Given the description of an element on the screen output the (x, y) to click on. 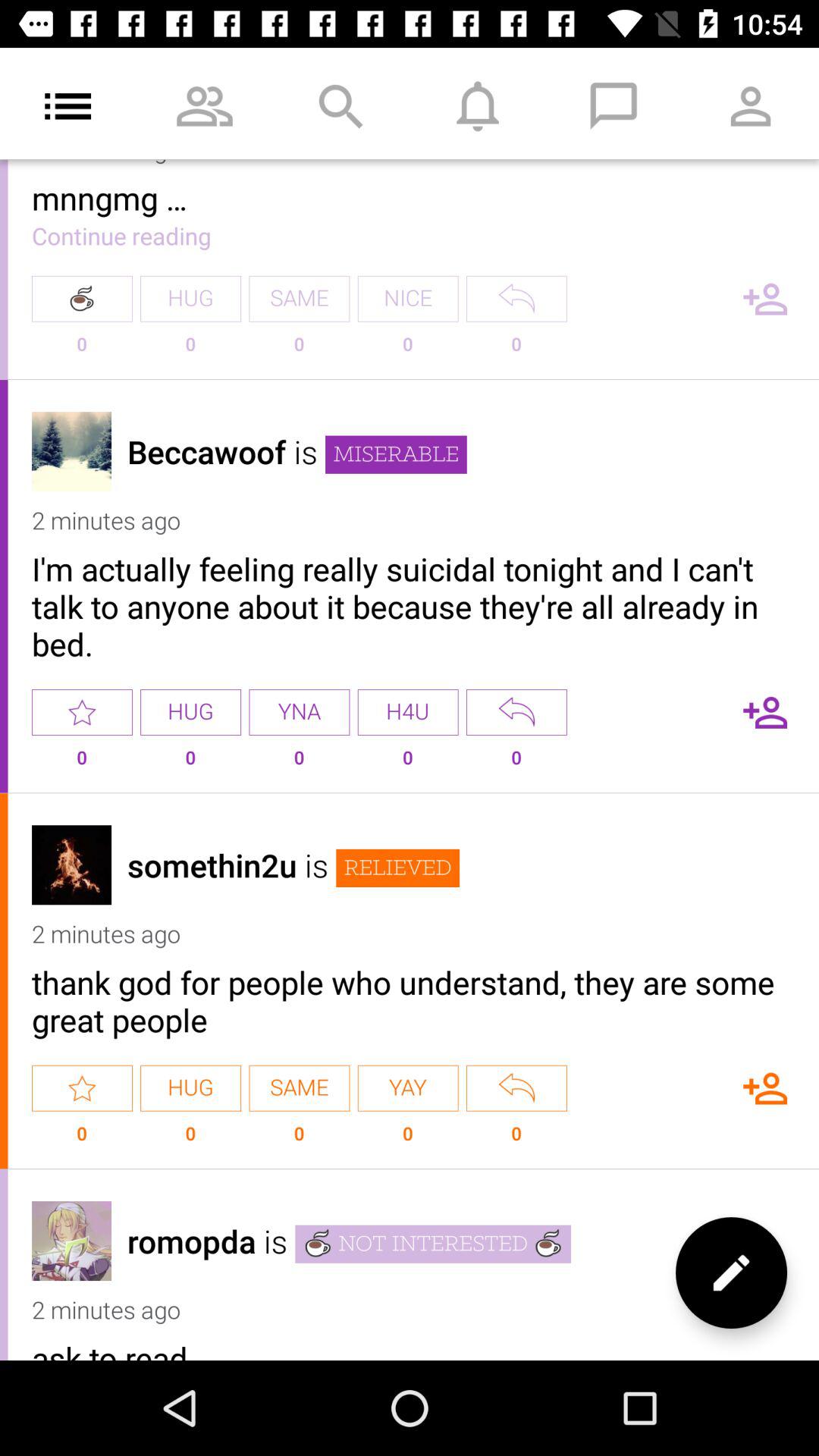
indicate the rating (81, 712)
